Given the description of an element on the screen output the (x, y) to click on. 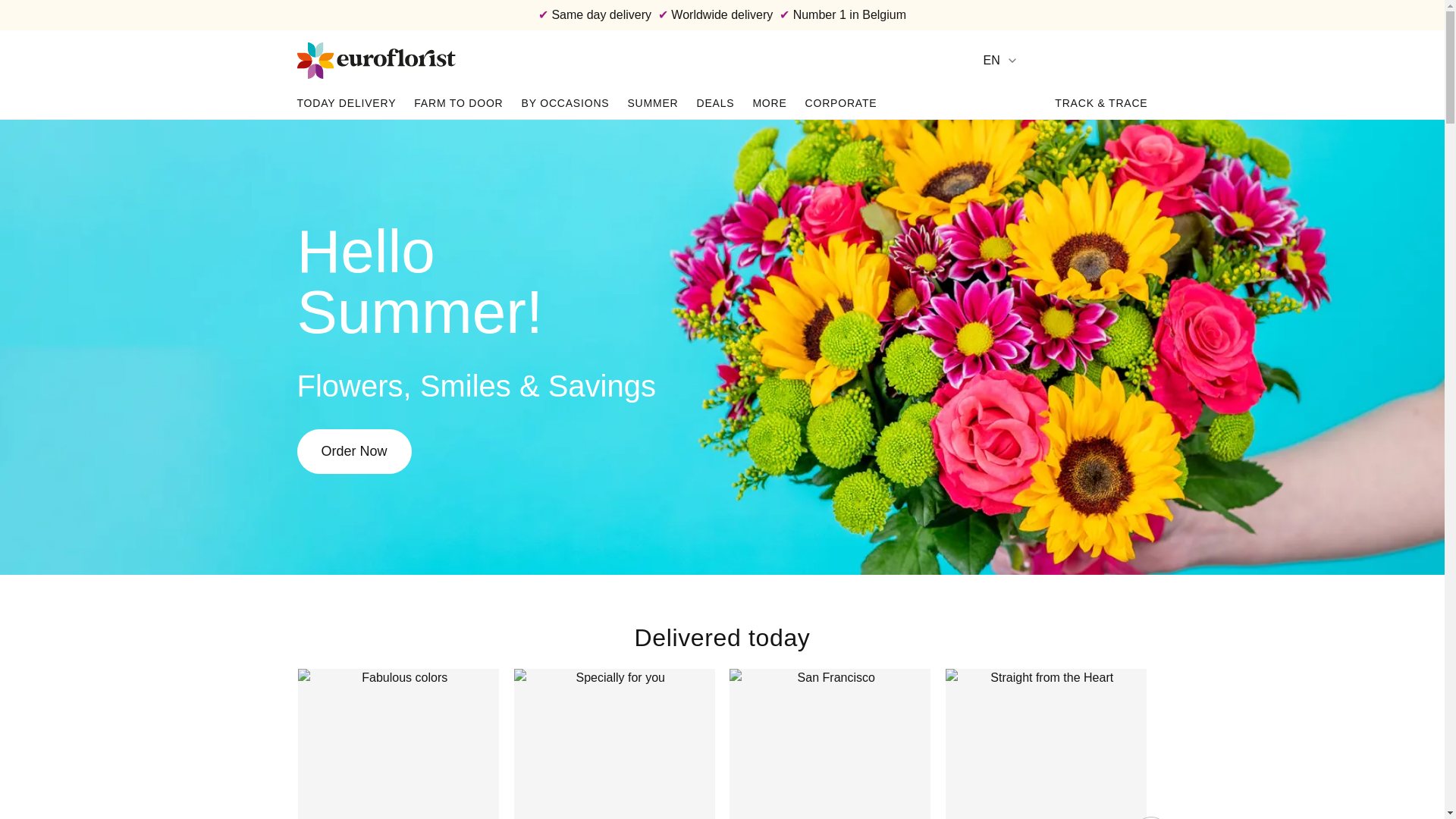
EN (999, 60)
